Given the description of an element on the screen output the (x, y) to click on. 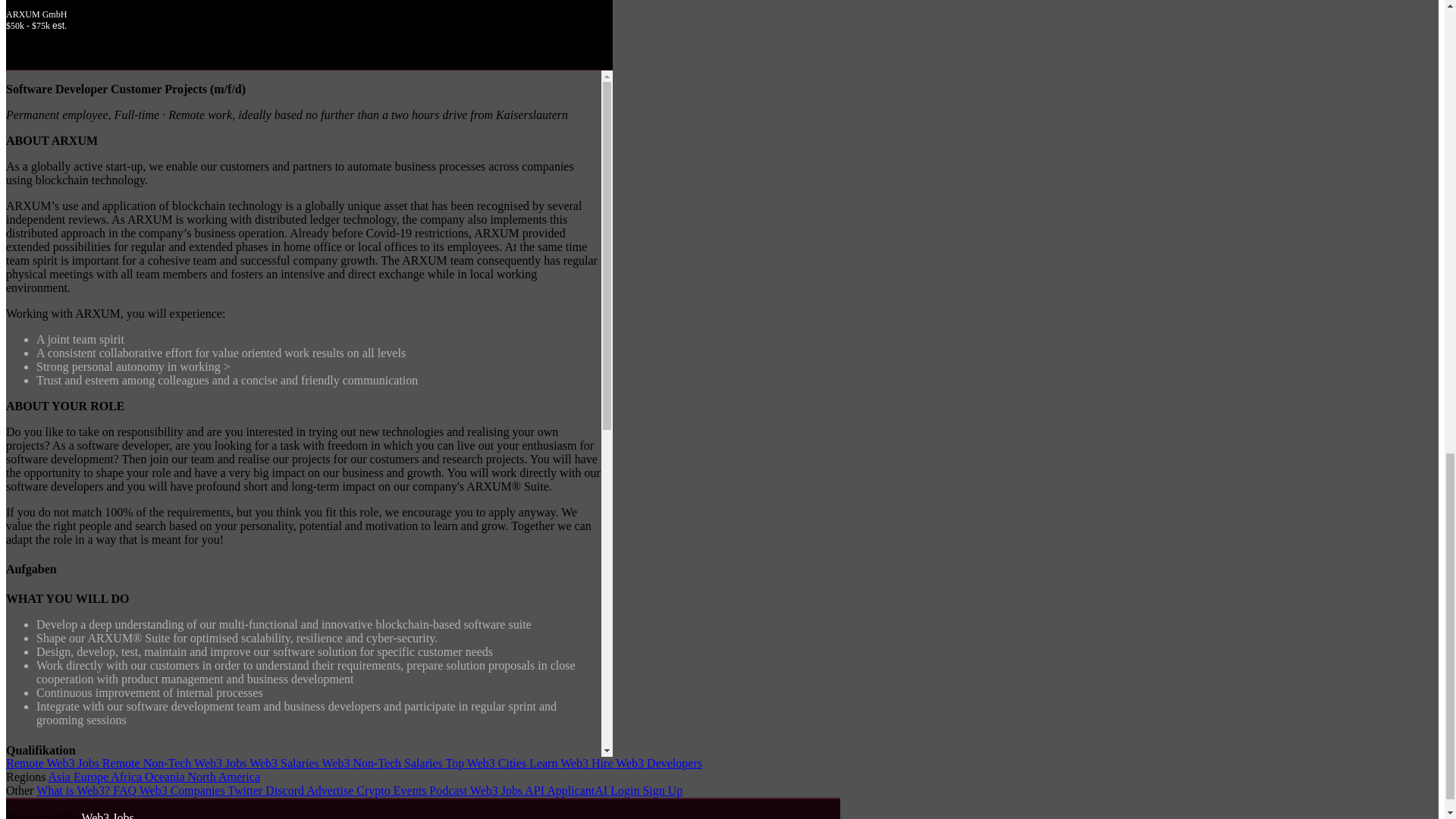
Estimated compensation based on similar jobs (308, 25)
